Given the description of an element on the screen output the (x, y) to click on. 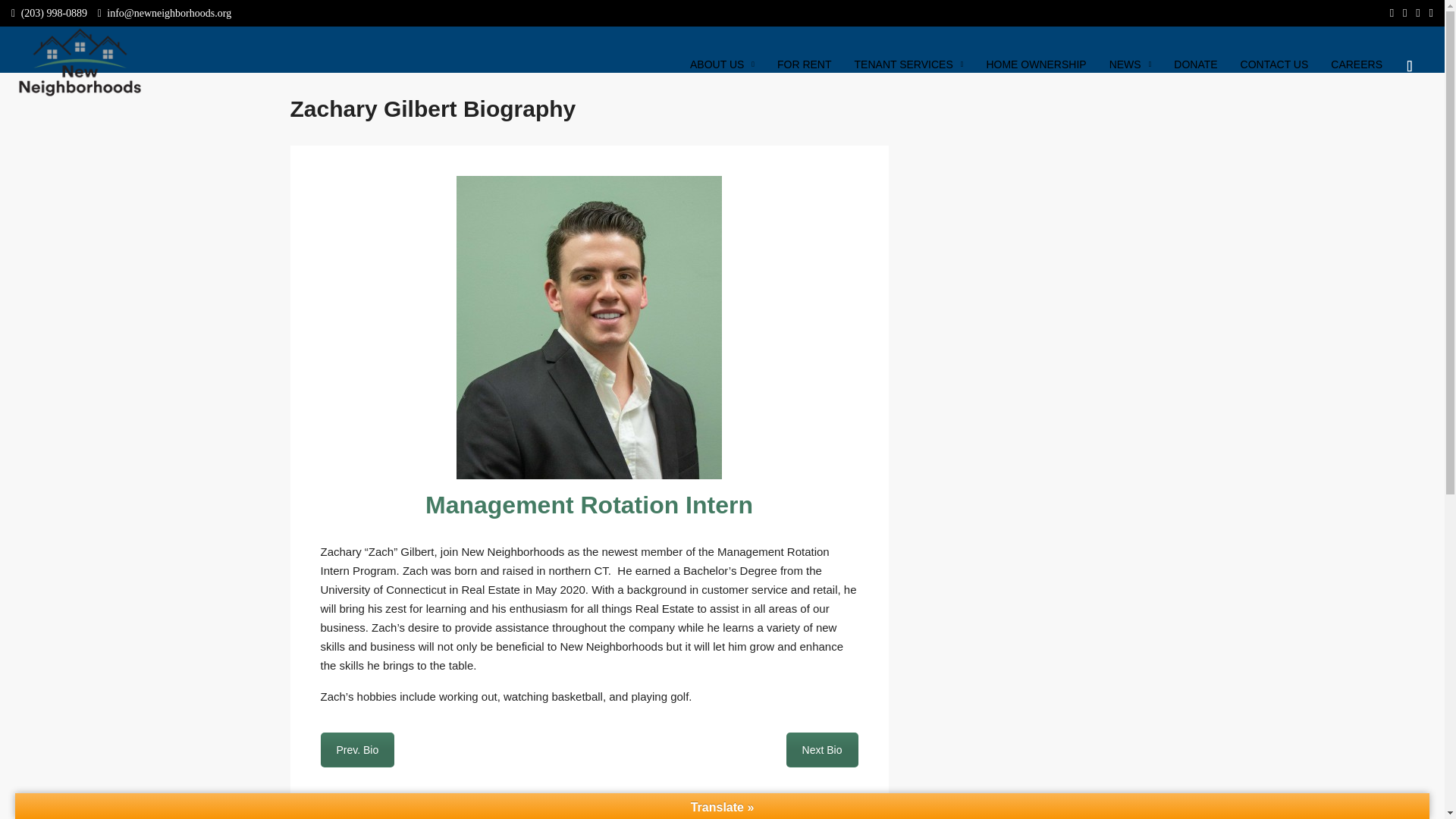
ABOUT US (721, 63)
William J. Healy II Biography (822, 749)
Shivani Chhatani Biography (357, 749)
